Given the description of an element on the screen output the (x, y) to click on. 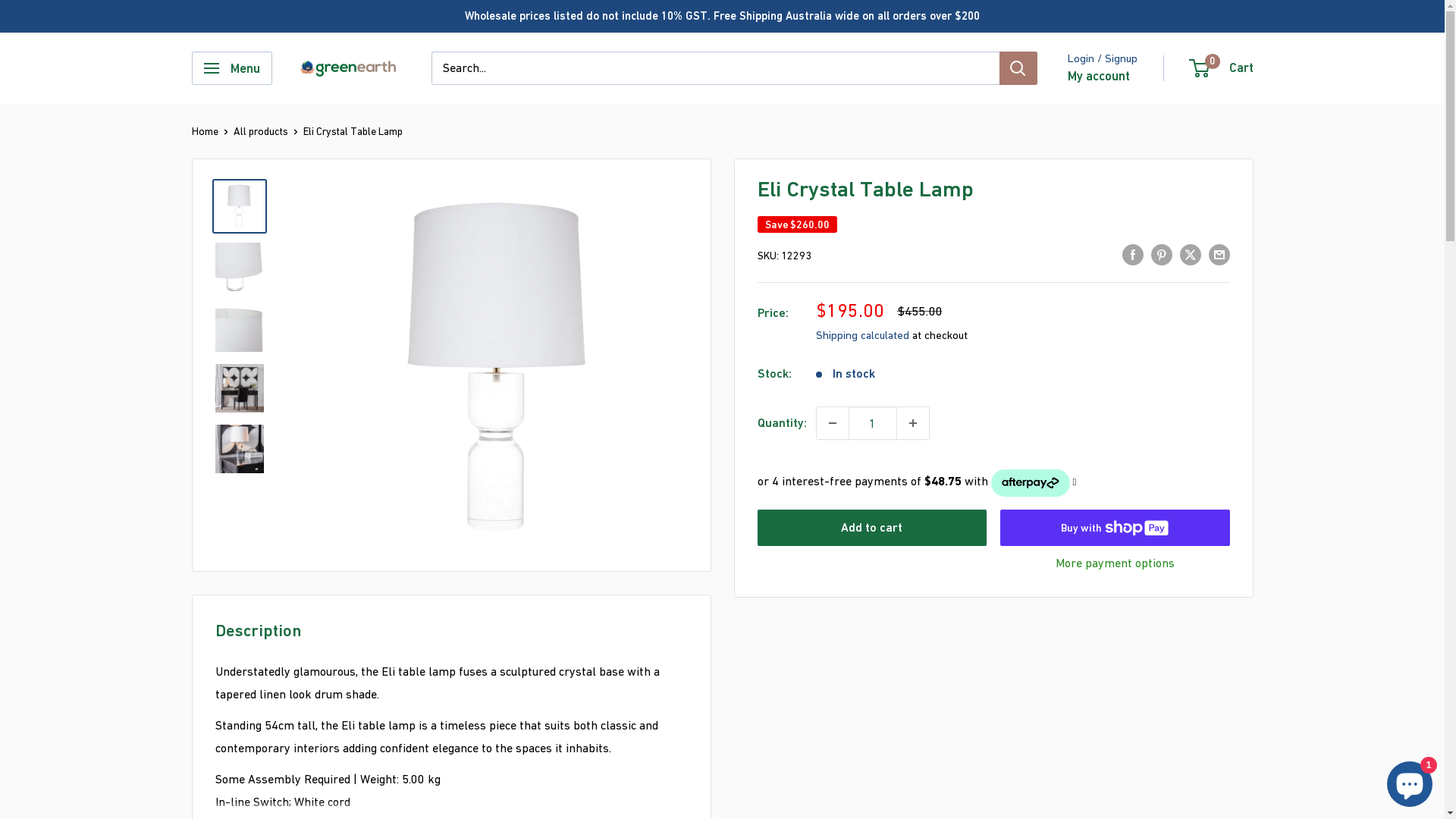
Shopify online store chat Element type: hover (1409, 780)
Menu Element type: text (231, 67)
Shipping calculated Element type: text (862, 334)
Decrease quantity by 1 Element type: hover (831, 423)
Green Earth Lighting Australia Element type: text (347, 67)
My account Element type: text (1098, 76)
More payment options Element type: text (1115, 563)
Home Element type: text (204, 131)
Add to cart Element type: text (871, 527)
Increase quantity by 1 Element type: hover (912, 423)
All products Element type: text (260, 131)
0
Cart Element type: text (1221, 68)
